Given the description of an element on the screen output the (x, y) to click on. 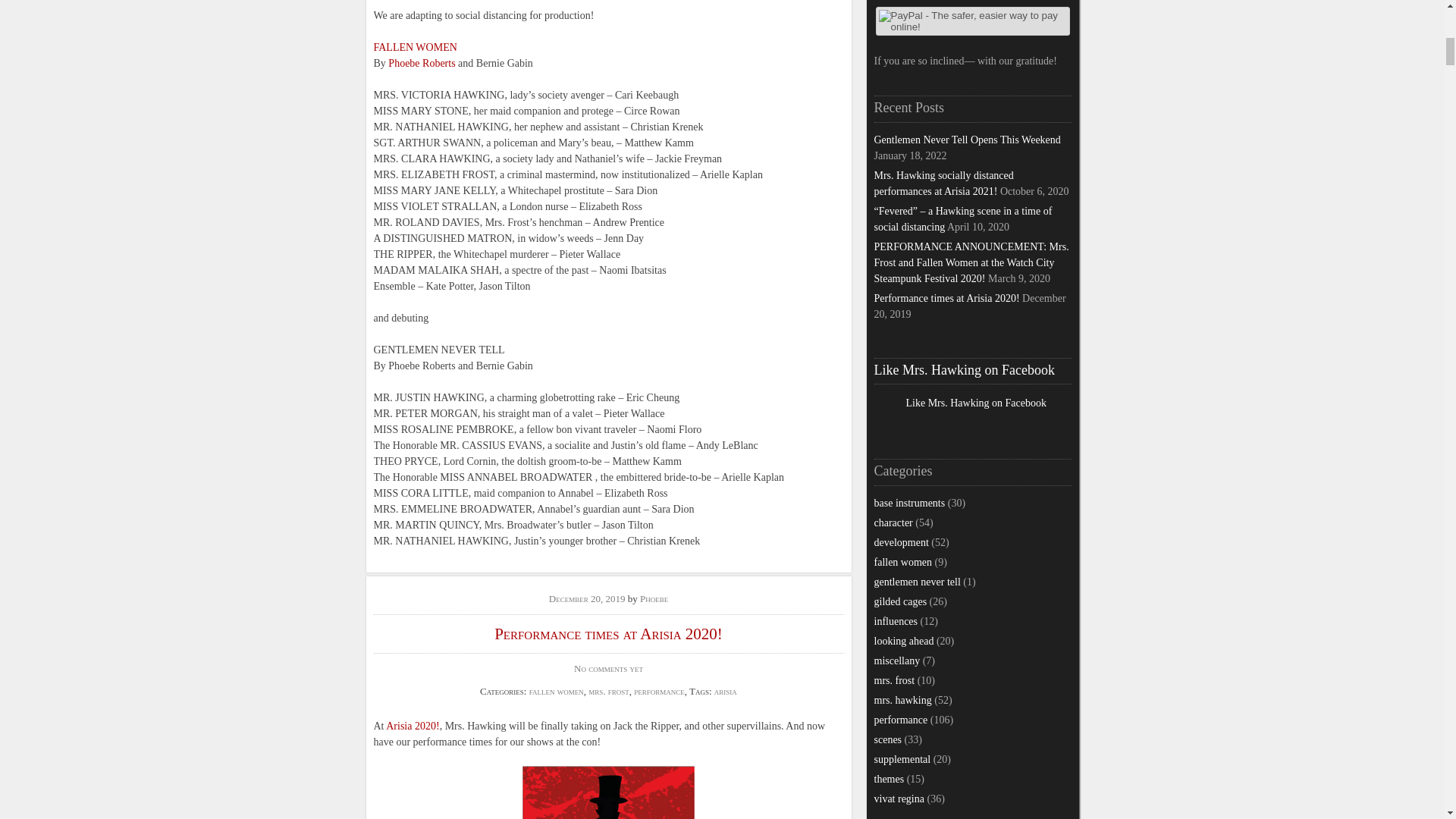
performance (658, 690)
arisia (725, 690)
Arisia 2020! (412, 726)
View all posts by Phoebe (654, 598)
No comments yet (608, 668)
Phoebe Roberts (421, 62)
Performance times at Arisia 2020! (608, 633)
Phoebe (654, 598)
Permanent Link to Performance times at Arisia 2020! (587, 598)
December 20, 2019 (587, 598)
